Given the description of an element on the screen output the (x, y) to click on. 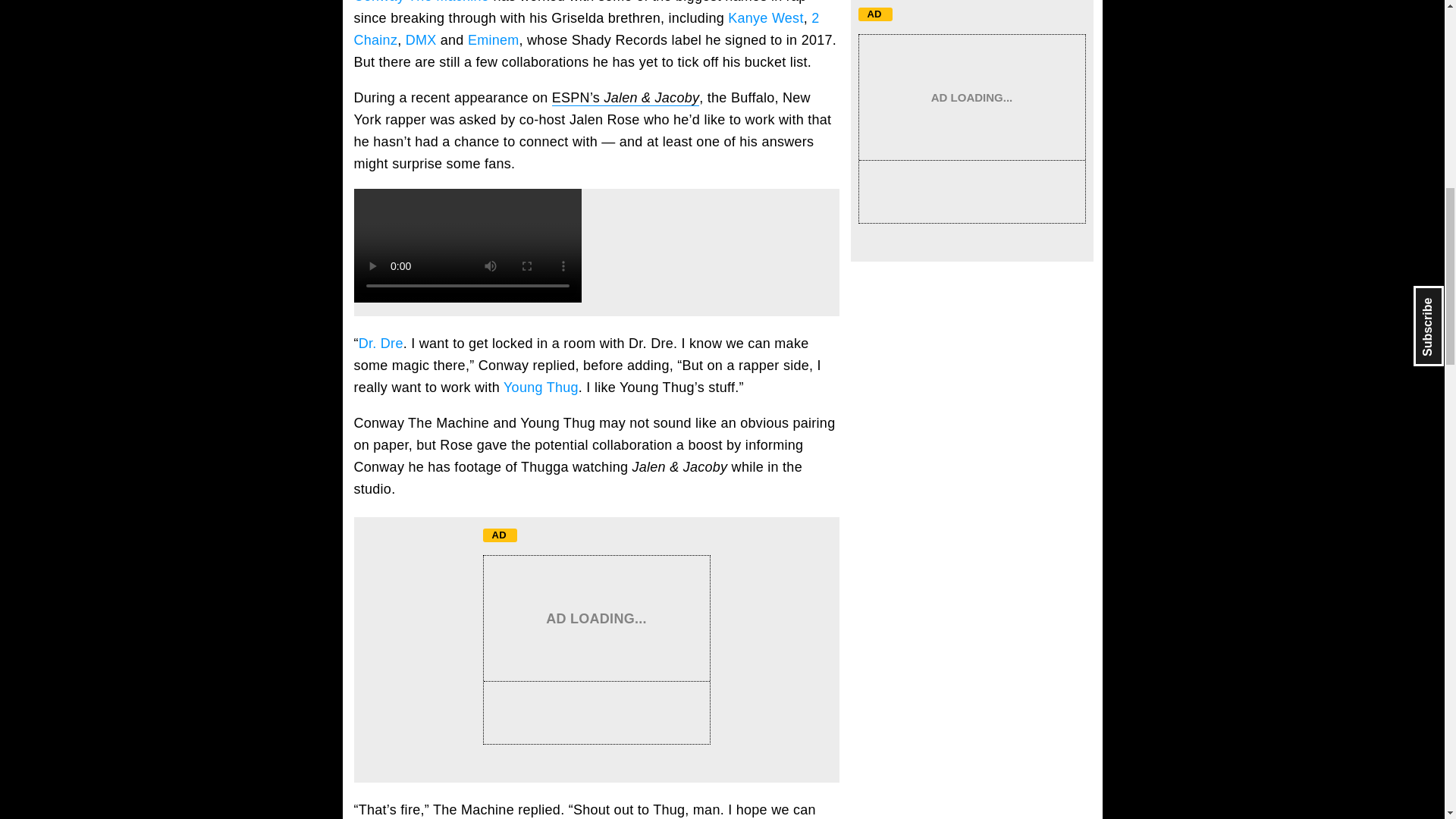
Kanye West (765, 17)
Eminem (493, 39)
2 Chainz (585, 28)
DMX (421, 39)
Conway The Machine (421, 2)
